Given the description of an element on the screen output the (x, y) to click on. 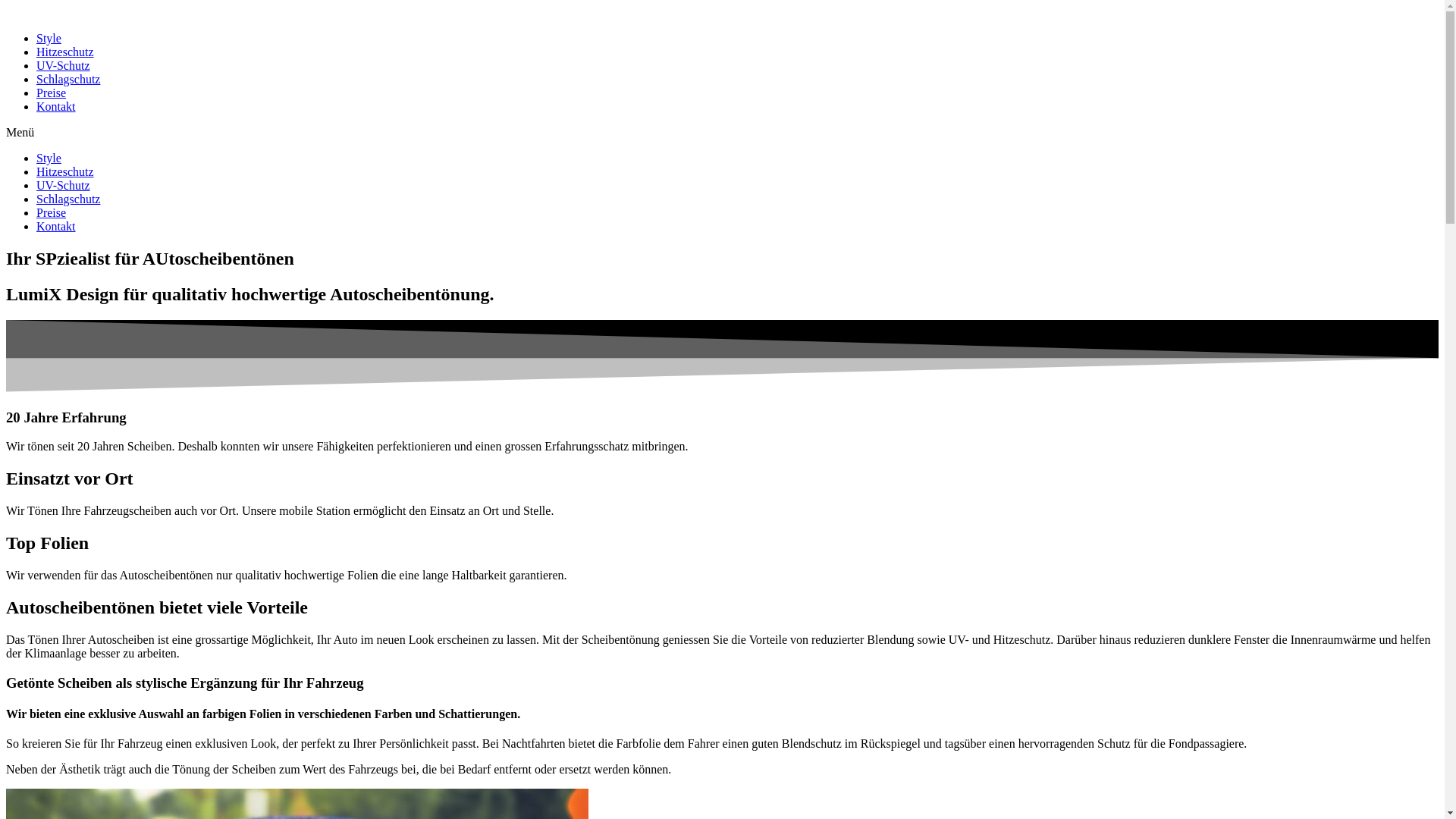
Kontakt Element type: text (55, 225)
Preise Element type: text (50, 212)
UV-Schutz Element type: text (63, 65)
Style Element type: text (48, 37)
Hitzeschutz Element type: text (65, 171)
Preise Element type: text (50, 92)
Schlagschutz Element type: text (68, 198)
UV-Schutz Element type: text (63, 184)
Kontakt Element type: text (55, 106)
Hitzeschutz Element type: text (65, 51)
Style Element type: text (48, 157)
Schlagschutz Element type: text (68, 78)
